Given the description of an element on the screen output the (x, y) to click on. 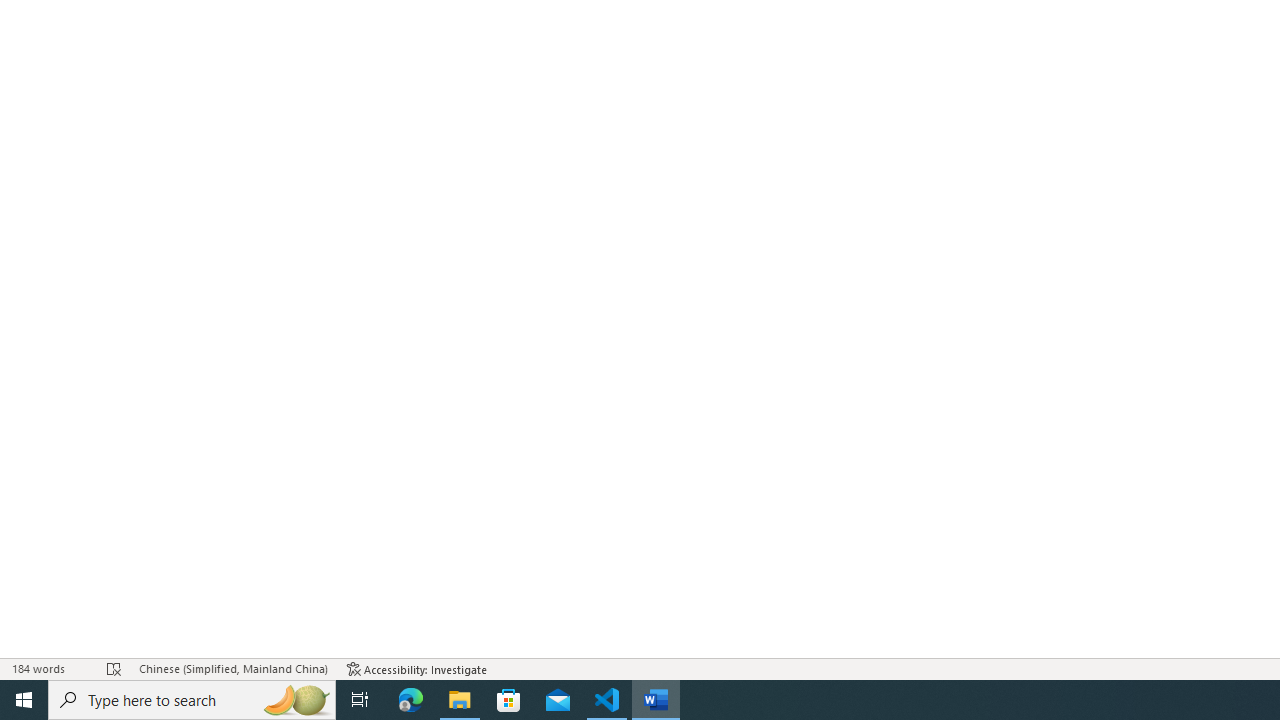
Word Count 184 words (49, 668)
